Given the description of an element on the screen output the (x, y) to click on. 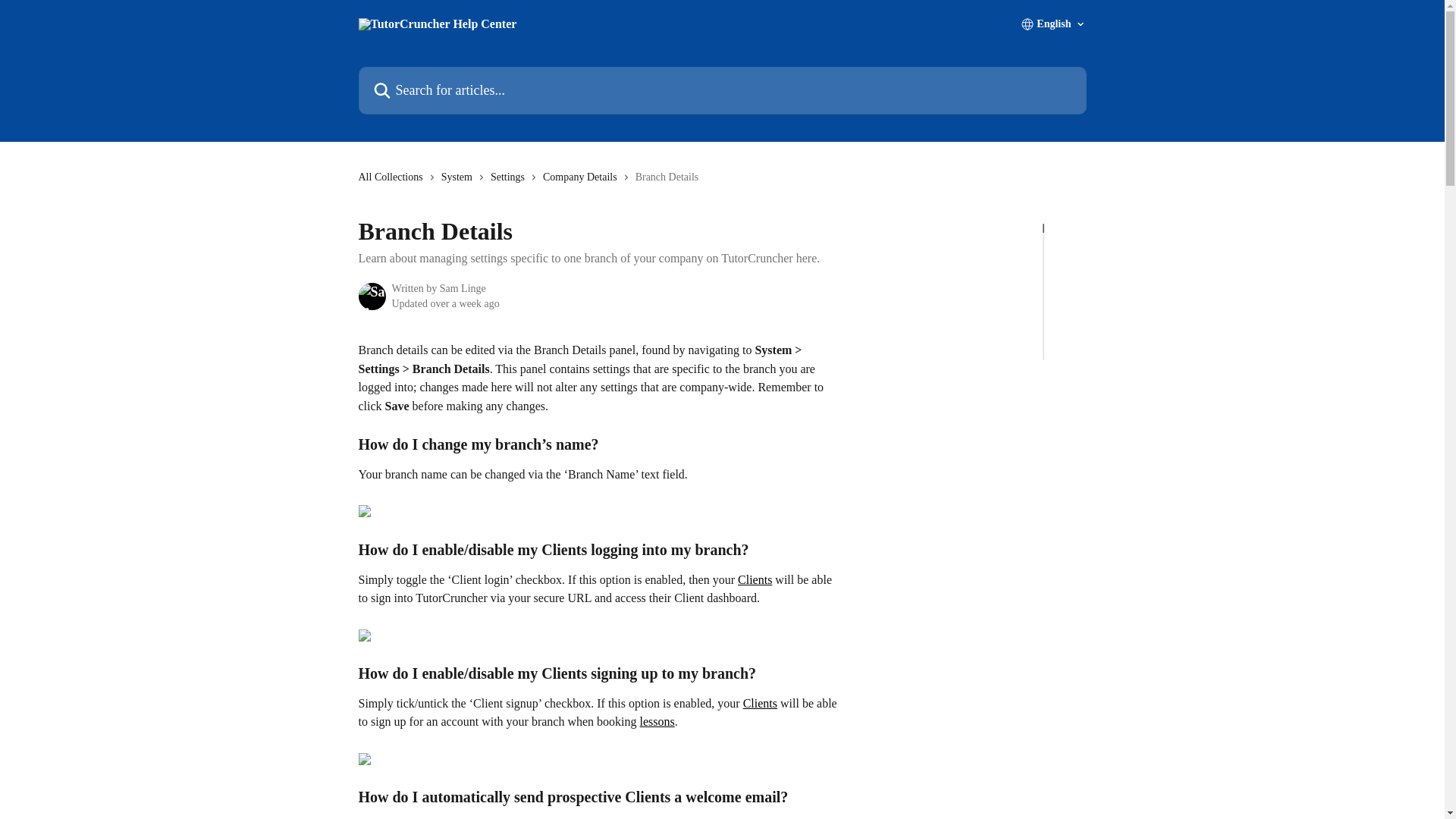
Settings (510, 176)
System (460, 176)
Clients (754, 579)
All Collections (393, 176)
Company Details (583, 176)
